Given the description of an element on the screen output the (x, y) to click on. 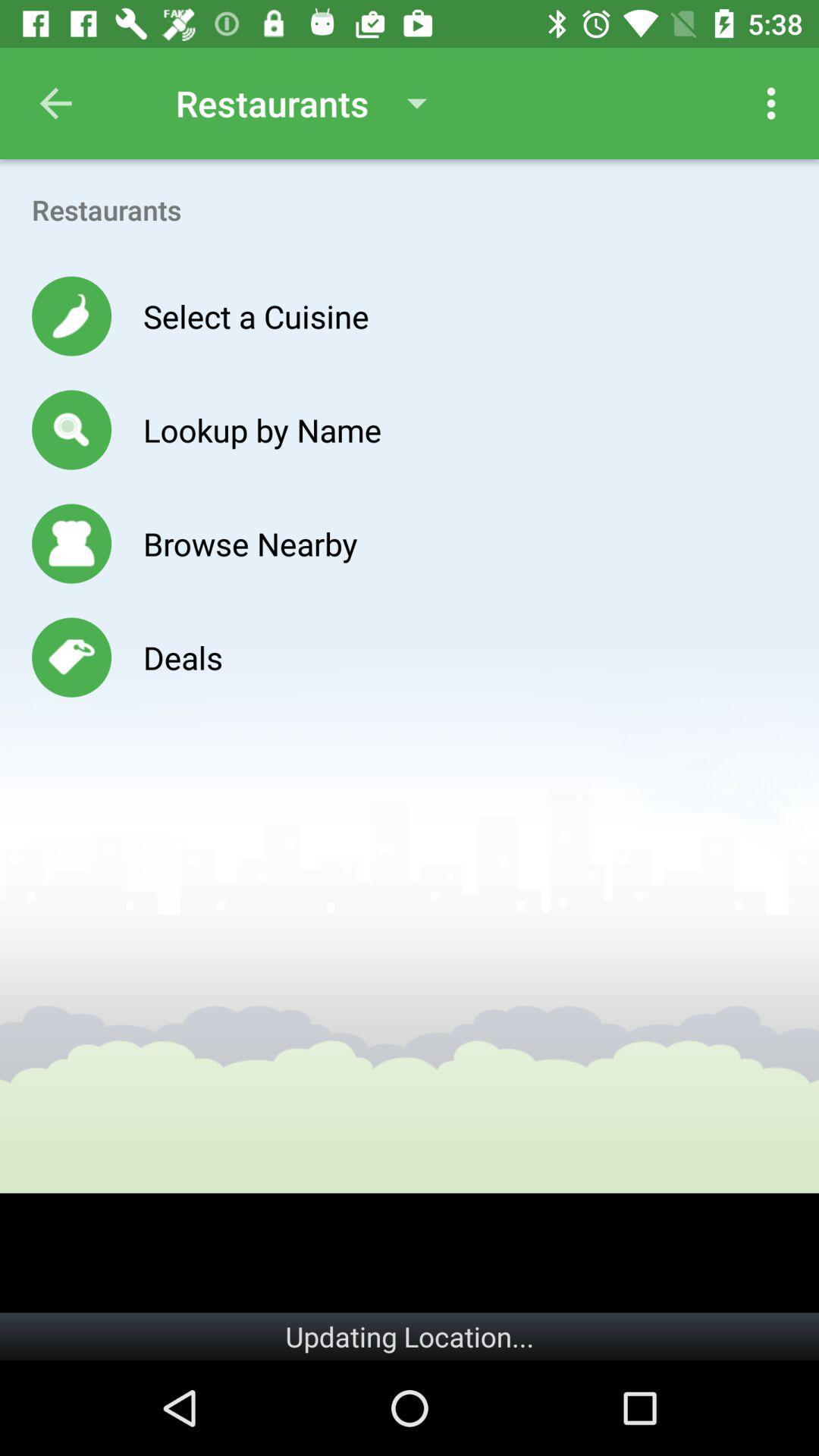
press item above updating location... icon (409, 1252)
